Given the description of an element on the screen output the (x, y) to click on. 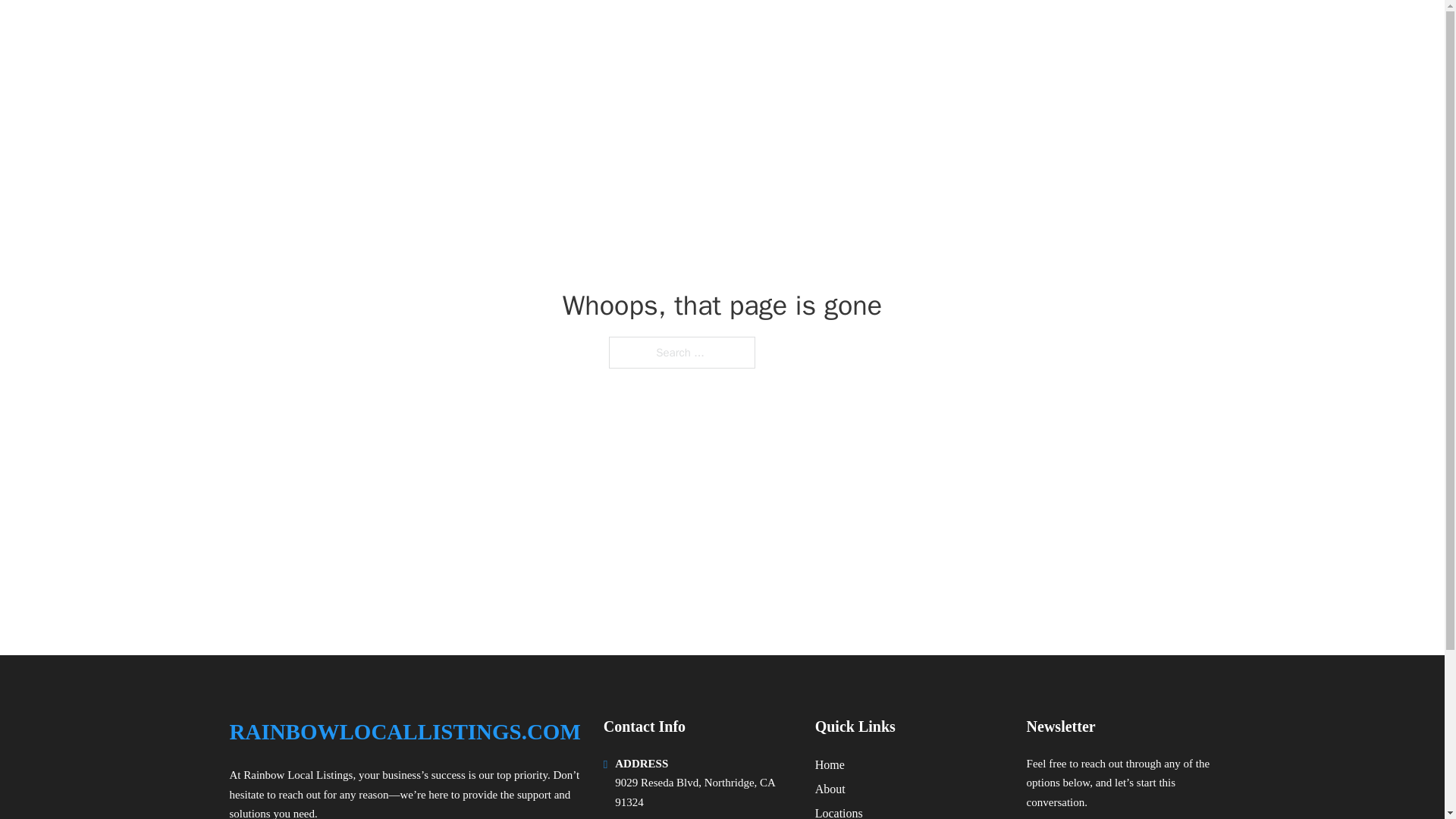
RAINBOWLOCALLISTINGS.COM (421, 31)
About (830, 788)
Locations (839, 811)
RAINBOWLOCALLISTINGS.COM (403, 732)
HOME (1025, 31)
Home (829, 764)
LOCATIONS (1098, 31)
